Given the description of an element on the screen output the (x, y) to click on. 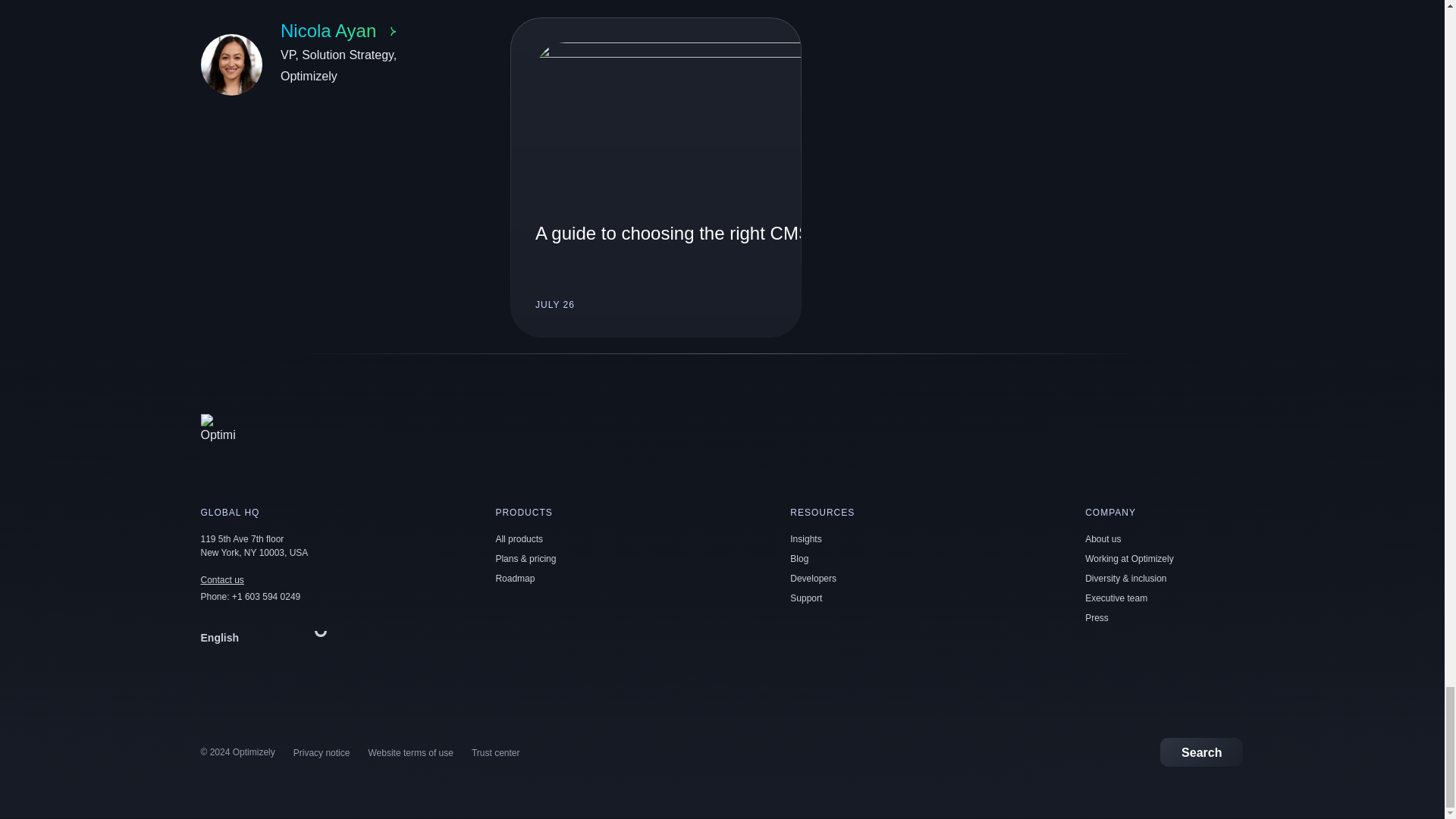
Developers (812, 578)
Support (656, 177)
Website terms of use (806, 597)
Insights (410, 752)
All products (805, 538)
About us (519, 538)
Contact us (1102, 538)
Search (221, 580)
Press (319, 64)
Contact us (1200, 752)
Executive team (1096, 617)
Roadmap (221, 580)
Trust center (1115, 597)
